Given the description of an element on the screen output the (x, y) to click on. 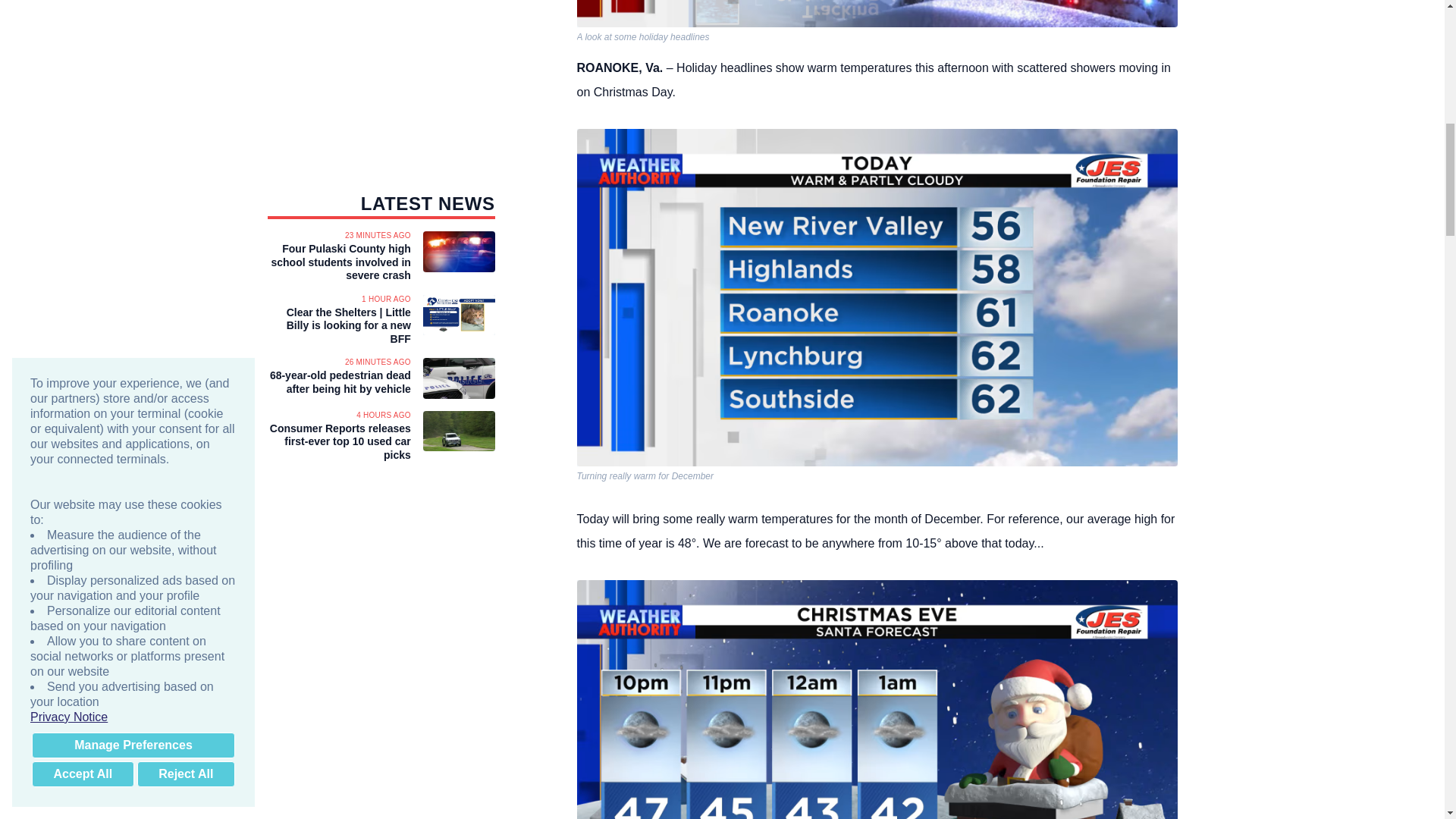
Consumer Reports releases first-ever top 10 used car picks (338, 441)
68-year-old pedestrian dead after being hit by vehicle (338, 382)
